Given the description of an element on the screen output the (x, y) to click on. 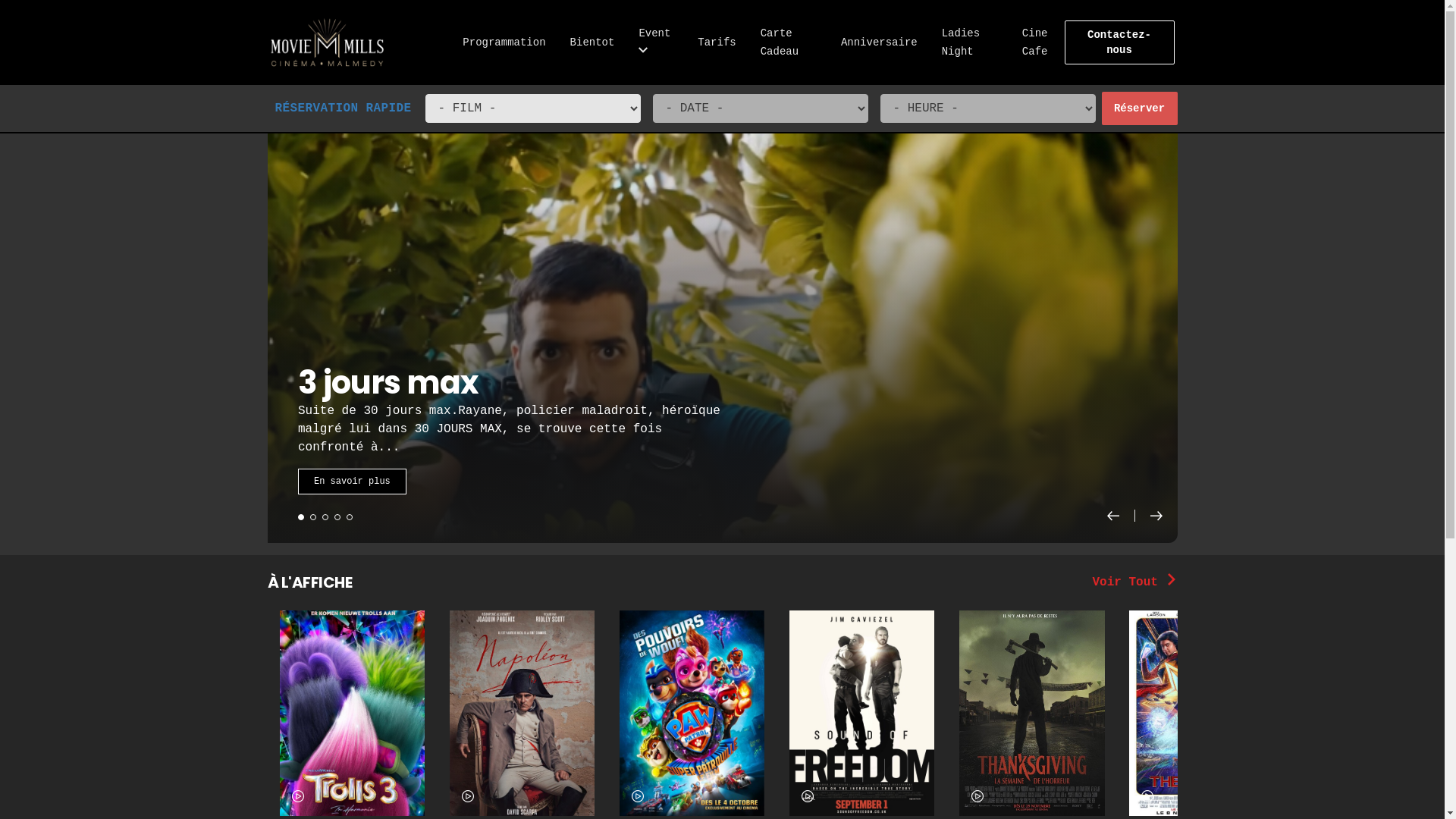
Carte Cadeau Element type: text (779, 42)
Contactez-nous Element type: text (1119, 42)
Anniversaire Element type: text (878, 42)
Ladies Night Element type: text (960, 42)
Programmation Element type: text (503, 42)
En savoir plus Element type: text (351, 481)
Tarifs Element type: text (716, 42)
Bientot Element type: text (592, 42)
Event Element type: text (654, 42)
Voir Tout Element type: text (1134, 582)
Cine Cafe Element type: text (1035, 42)
